Given the description of an element on the screen output the (x, y) to click on. 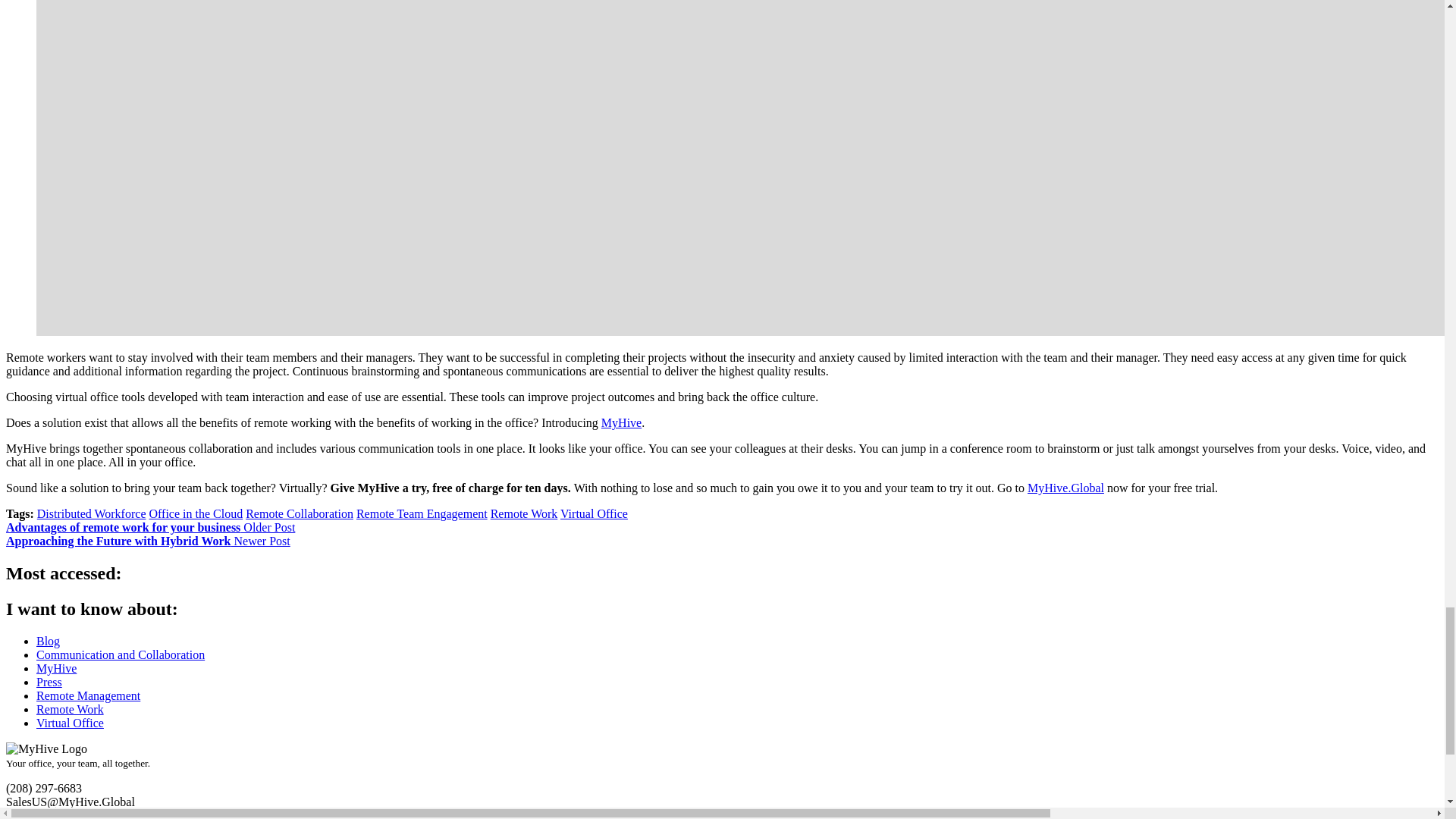
Blog (47, 640)
Press (49, 681)
Virtual Office (593, 513)
Approaching the Future with Hybrid Work Newer Post (147, 540)
Advantages of remote work for your business (150, 526)
Communication and Collaboration (120, 654)
Remote Team Engagement (421, 513)
Remote Work (523, 513)
Office in the Cloud (195, 513)
MyHive (621, 422)
Advantages of remote work for your business Older Post (150, 526)
Approaching the Future with Hybrid Work (147, 540)
Remote Collaboration (299, 513)
Distributed Workforce (92, 513)
MyHive (56, 667)
